Given the description of an element on the screen output the (x, y) to click on. 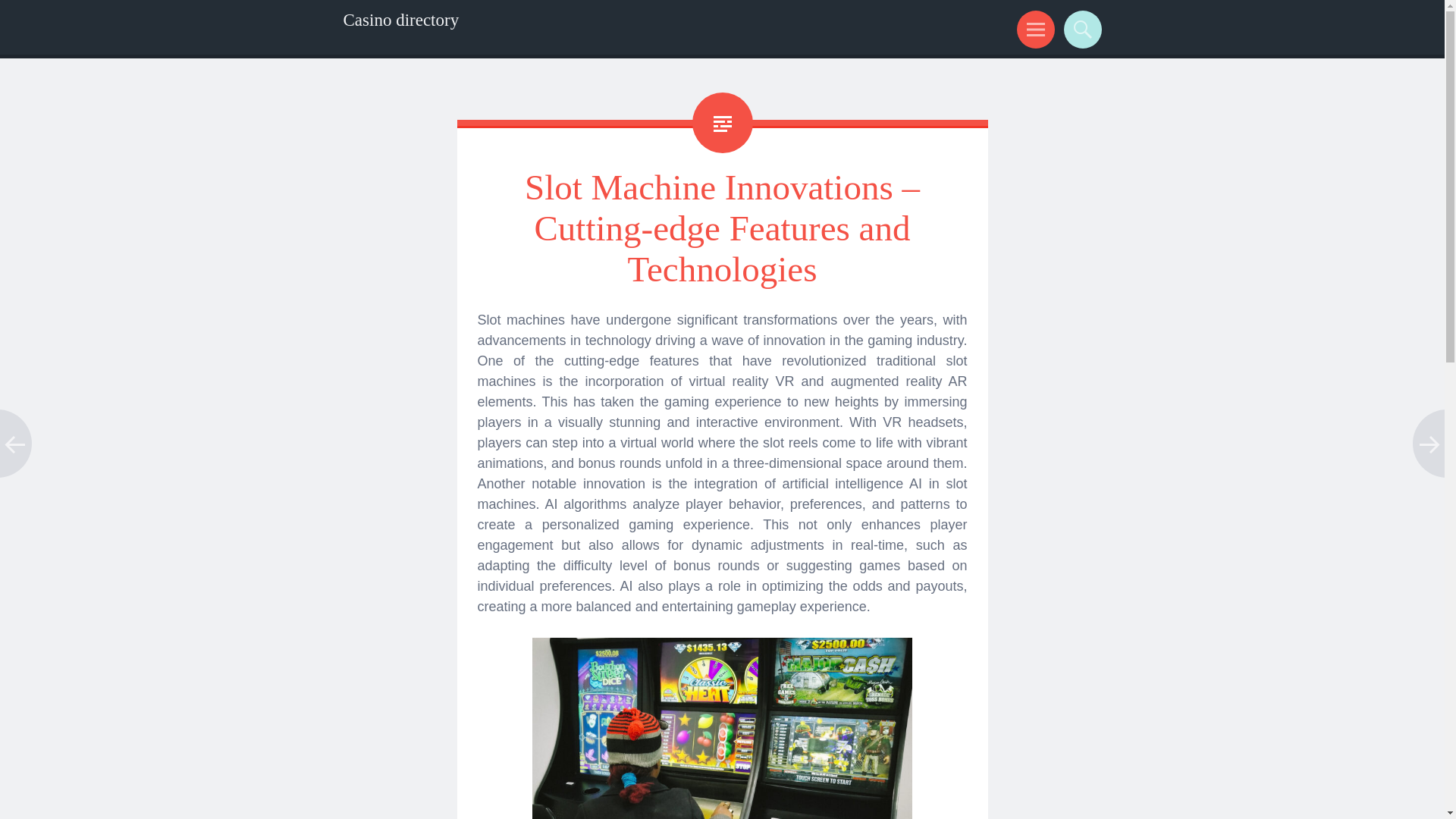
Menu (1032, 29)
Search (1080, 29)
Casino directory (400, 19)
